Given the description of an element on the screen output the (x, y) to click on. 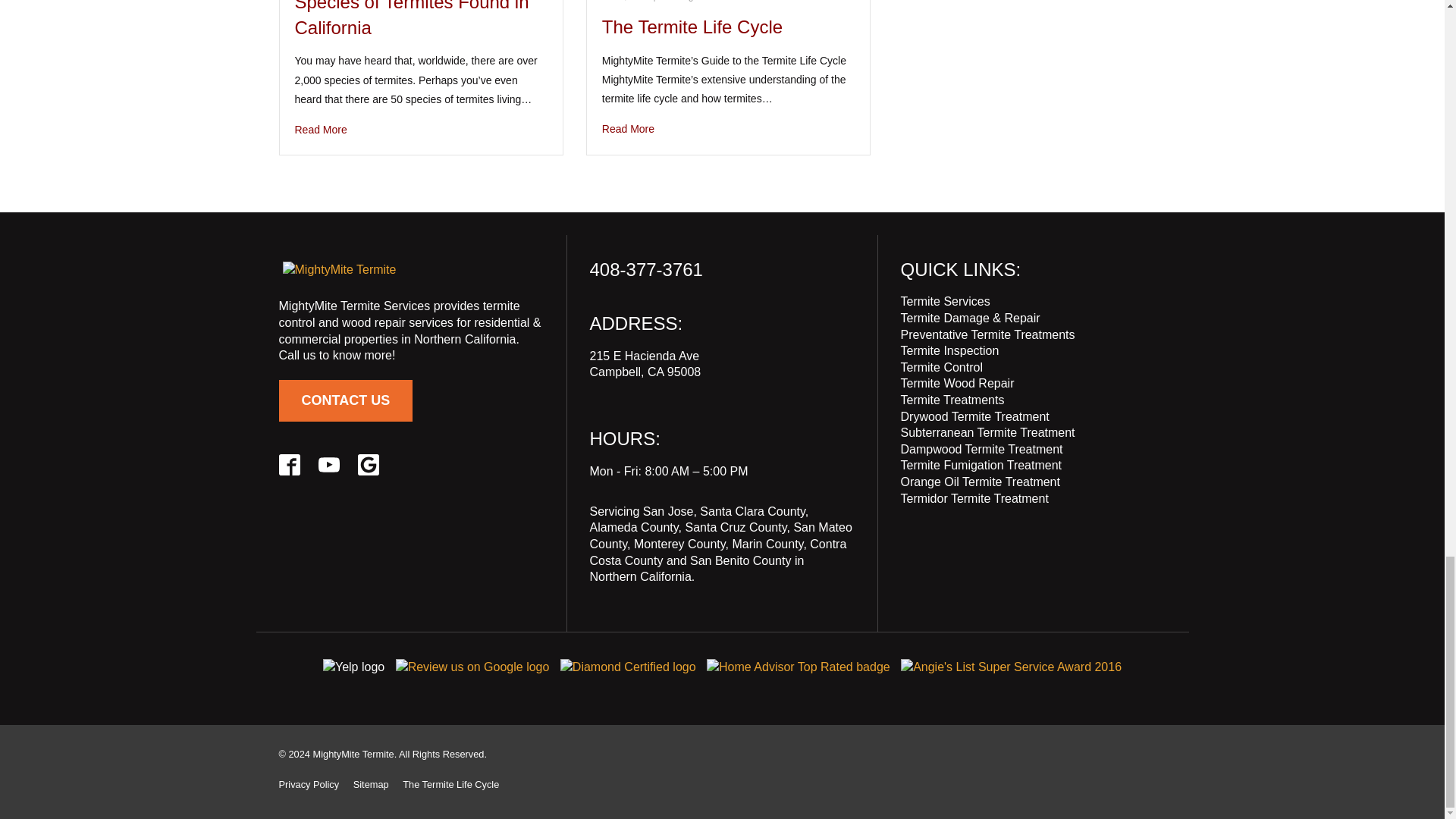
Species of Termites Found in California (420, 129)
facebook (289, 464)
google (368, 464)
The Termite Life Cycle (728, 128)
MightyMite Termite (339, 269)
youtube (328, 464)
